Given the description of an element on the screen output the (x, y) to click on. 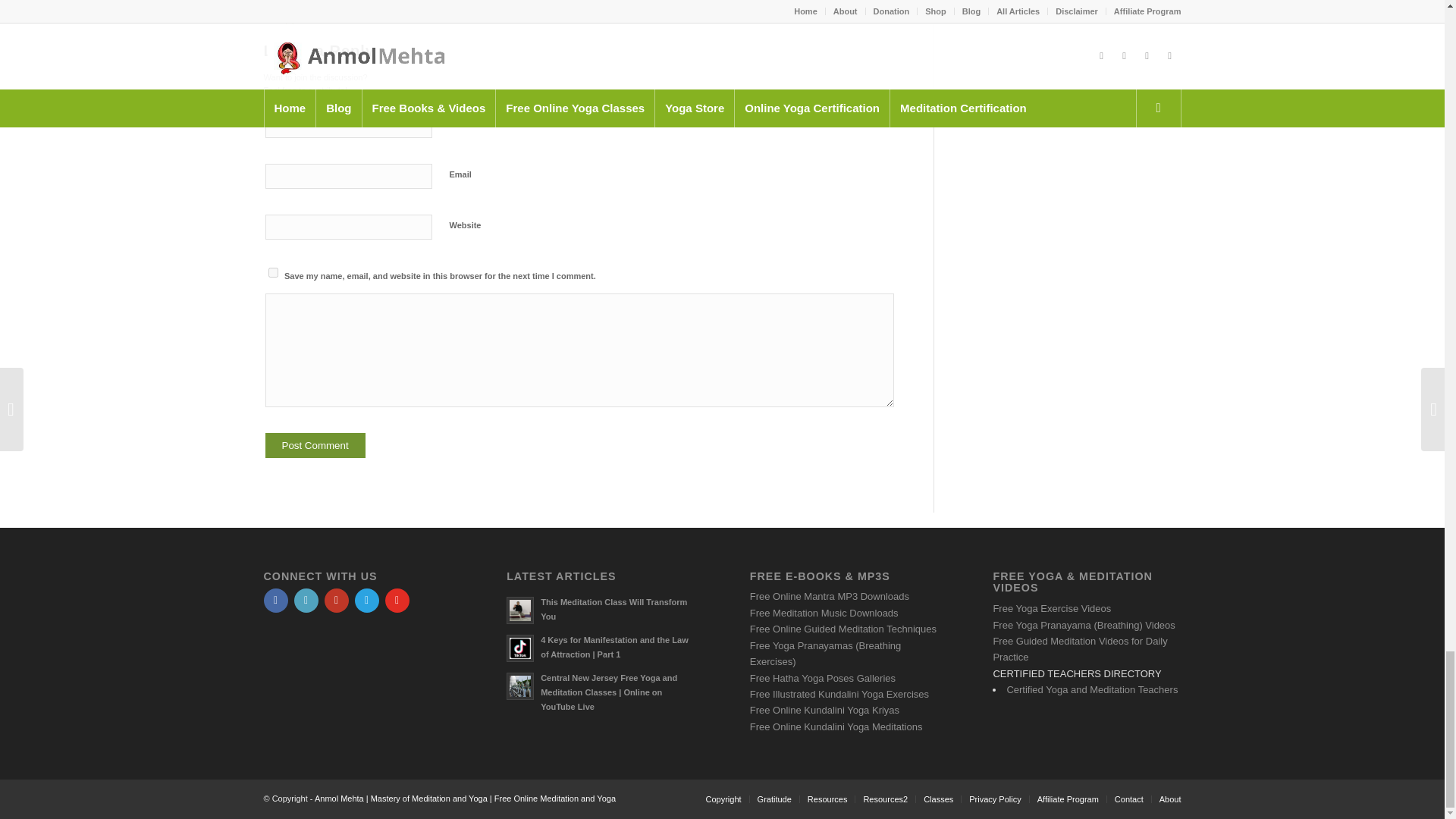
Post Comment (314, 445)
yes (272, 272)
